Given the description of an element on the screen output the (x, y) to click on. 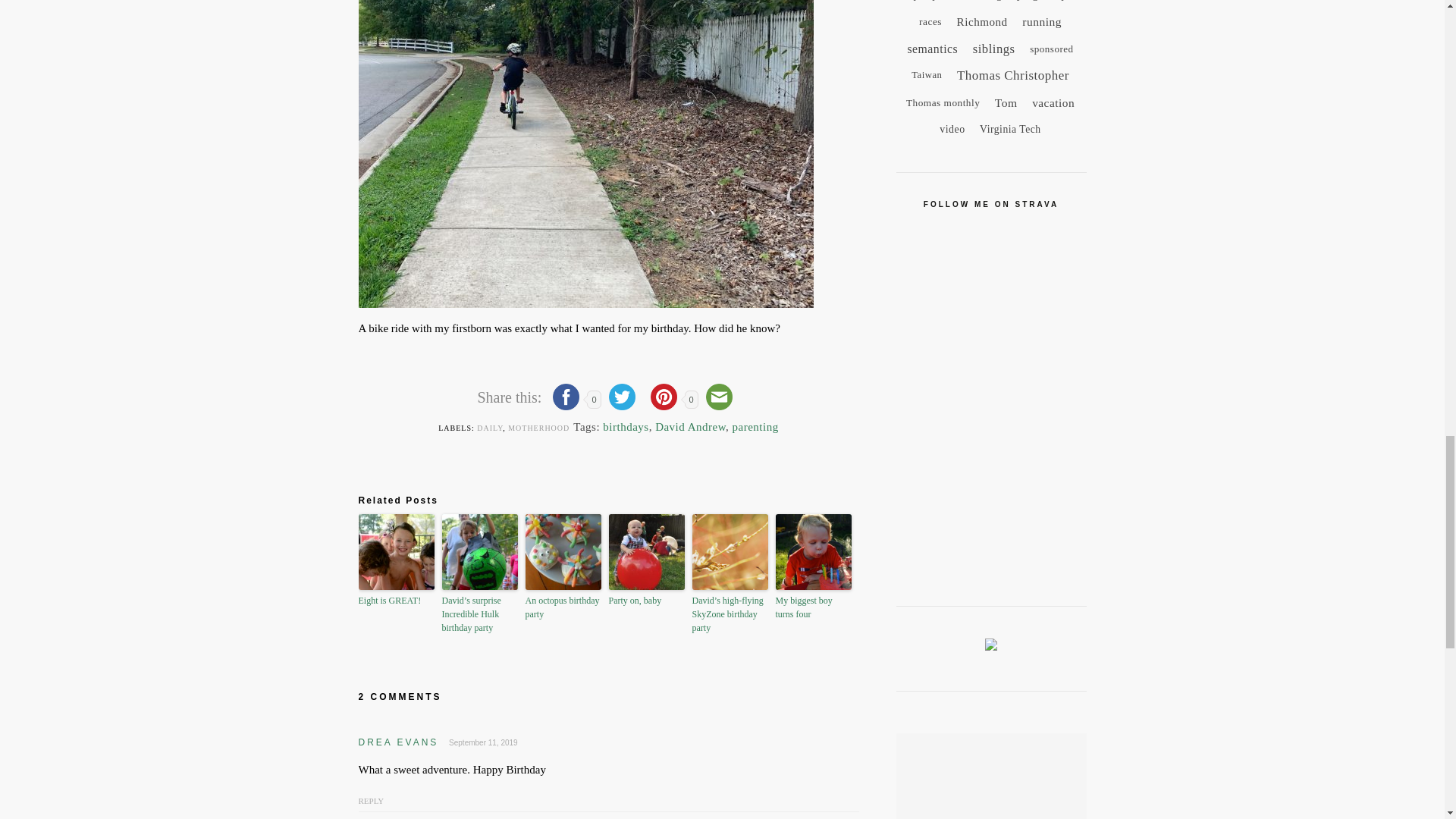
DAILY (489, 428)
Pinterest (663, 398)
Eight is GREAT! (395, 600)
birthdays (624, 426)
parenting (755, 426)
Twitter (620, 398)
Email (718, 398)
An octopus birthday party (561, 606)
Share this: (510, 397)
David Andrew (690, 426)
MOTHERHOOD (538, 428)
Facebook (565, 398)
